Given the description of an element on the screen output the (x, y) to click on. 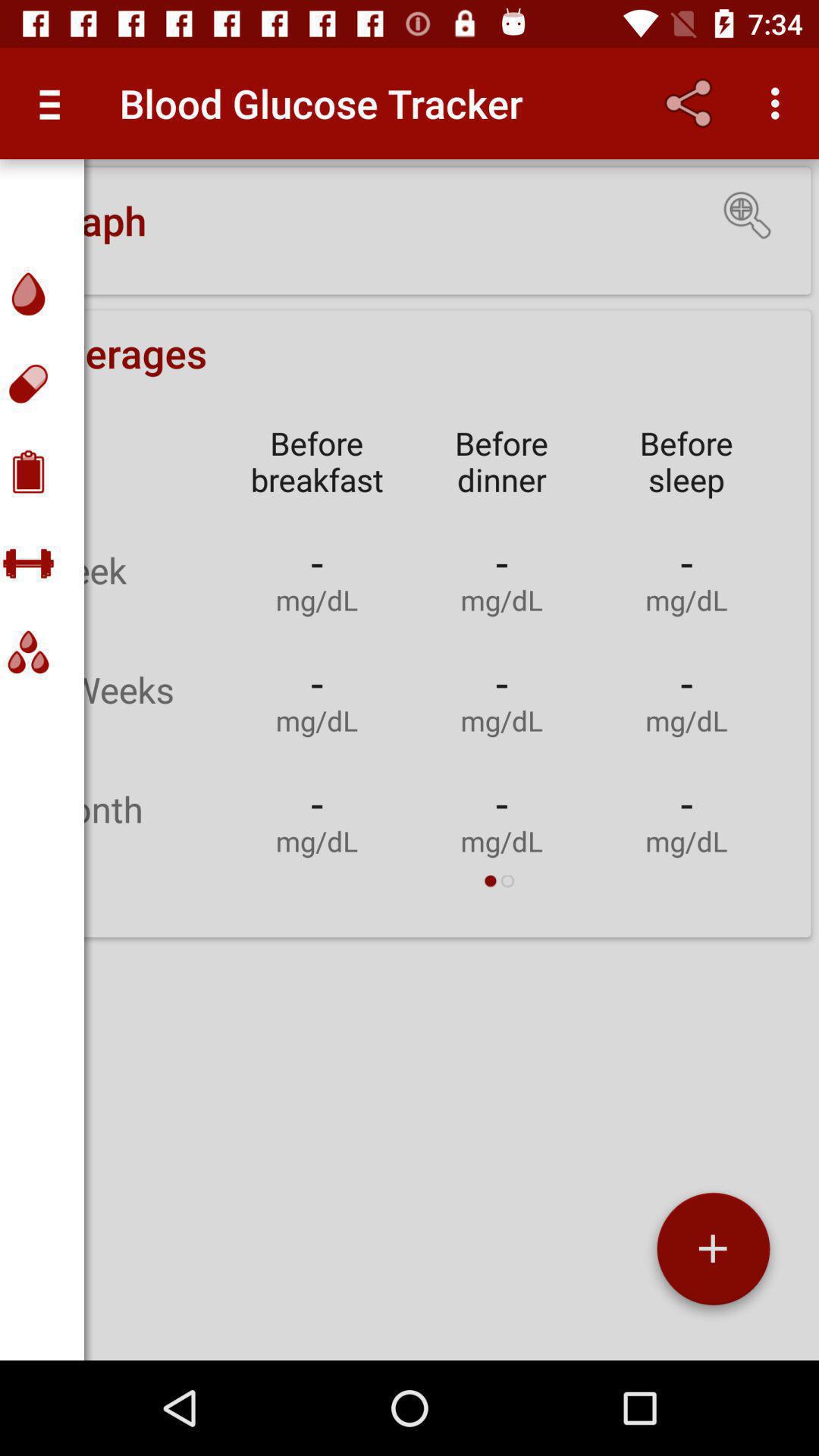
add icon to page (713, 1254)
